Given the description of an element on the screen output the (x, y) to click on. 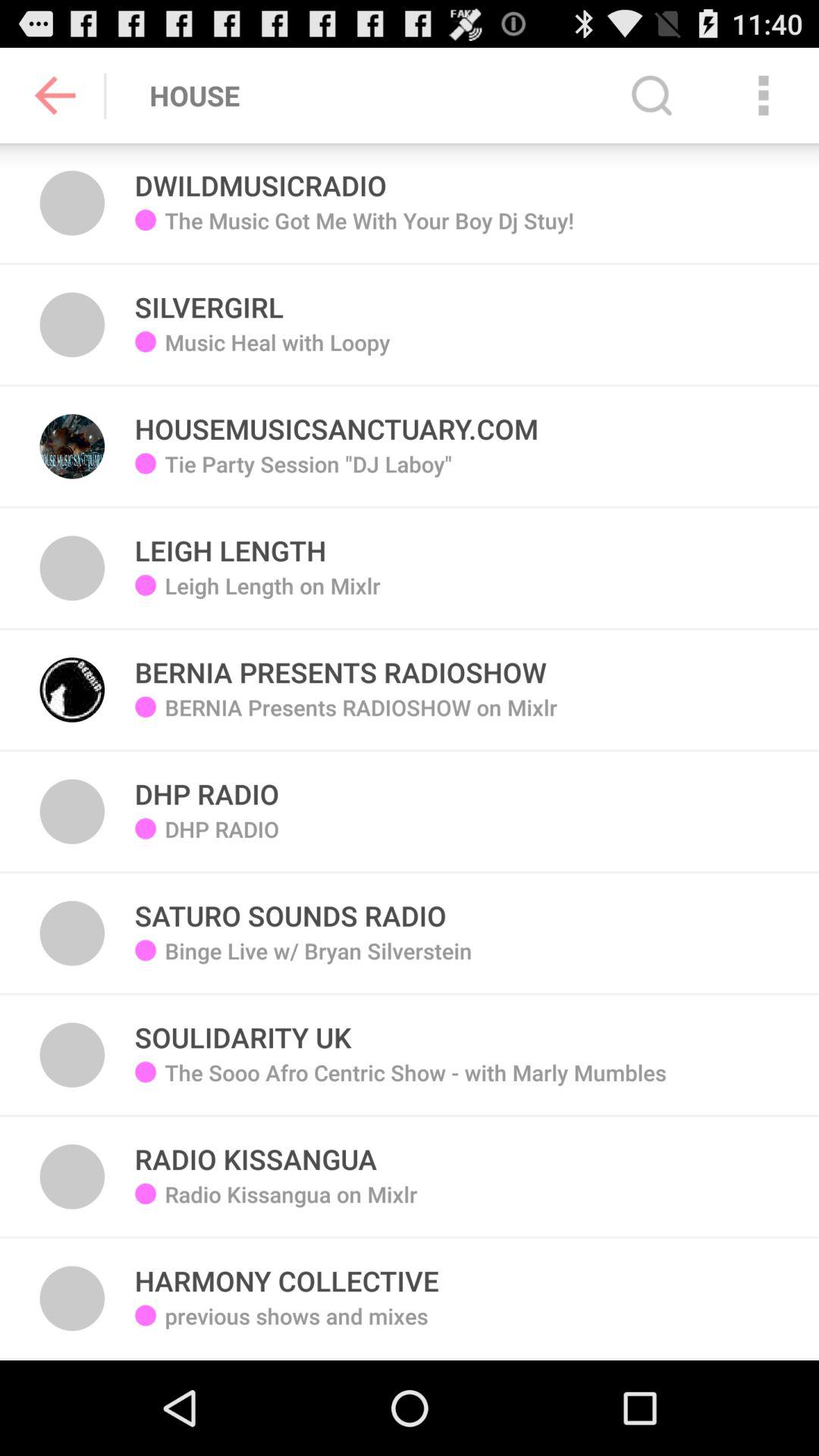
select harmony collective icon (286, 1272)
